Given the description of an element on the screen output the (x, y) to click on. 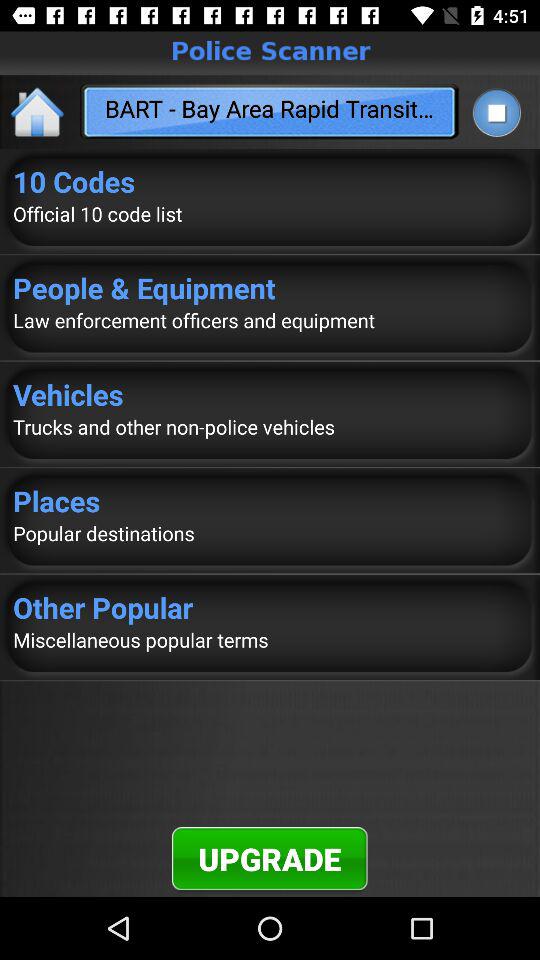
launch trucks and other icon (269, 426)
